Given the description of an element on the screen output the (x, y) to click on. 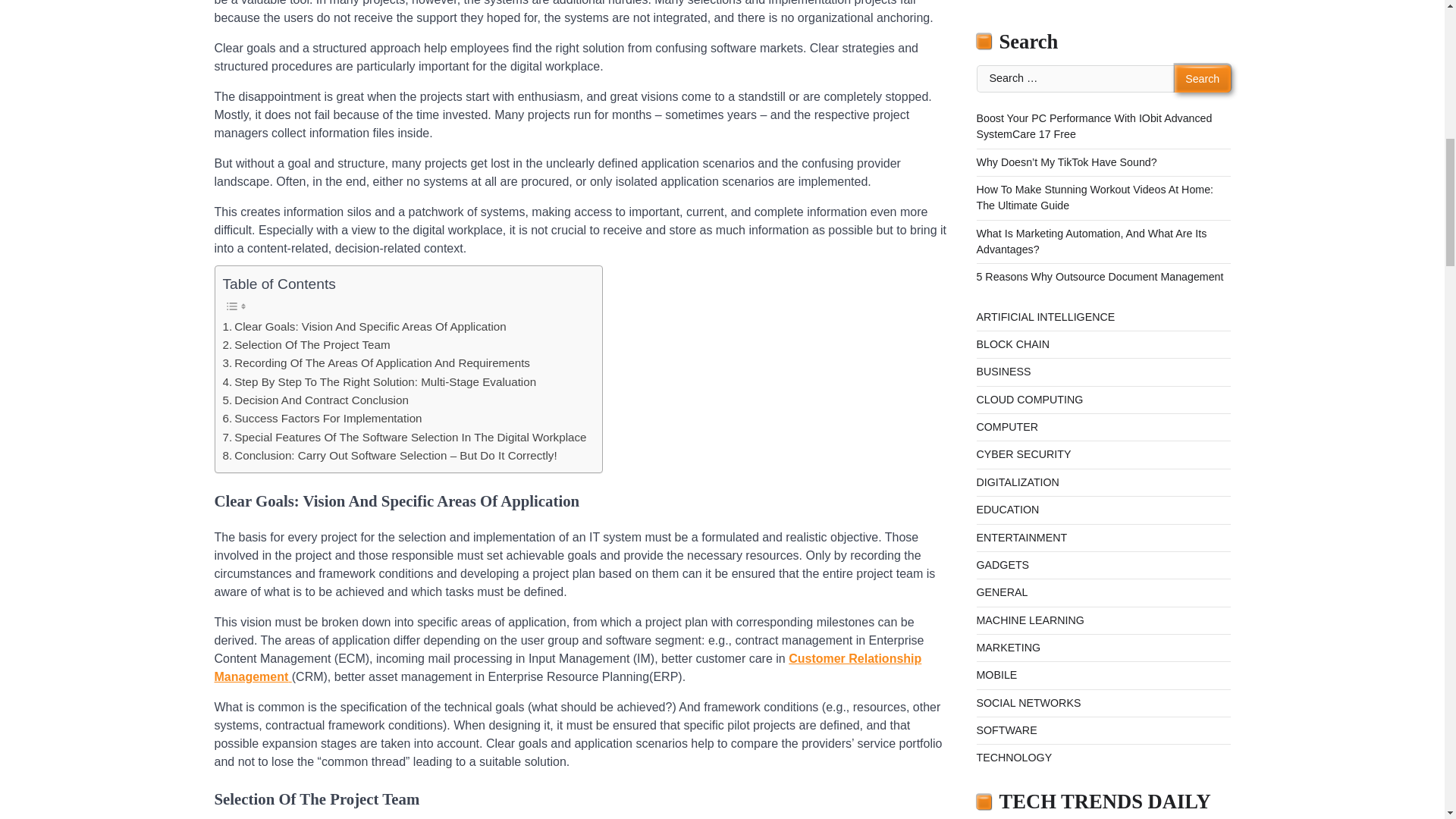
Success Factors For Implementation (322, 418)
Clear Goals: Vision And Specific Areas Of Application (364, 326)
Success Factors For Implementation (322, 418)
Clear Goals: Vision And Specific Areas Of Application (364, 326)
Decision And Contract Conclusion (315, 400)
Recording Of The Areas Of Application And Requirements (375, 362)
Selection Of The Project Team (306, 344)
Customer Relationship Management (567, 667)
Step By Step To The Right Solution: Multi-Stage Evaluation (379, 382)
Decision And Contract Conclusion (315, 400)
Selection Of The Project Team (306, 344)
Recording Of The Areas Of Application And Requirements (375, 362)
Step By Step To The Right Solution: Multi-Stage Evaluation (379, 382)
